Given the description of an element on the screen output the (x, y) to click on. 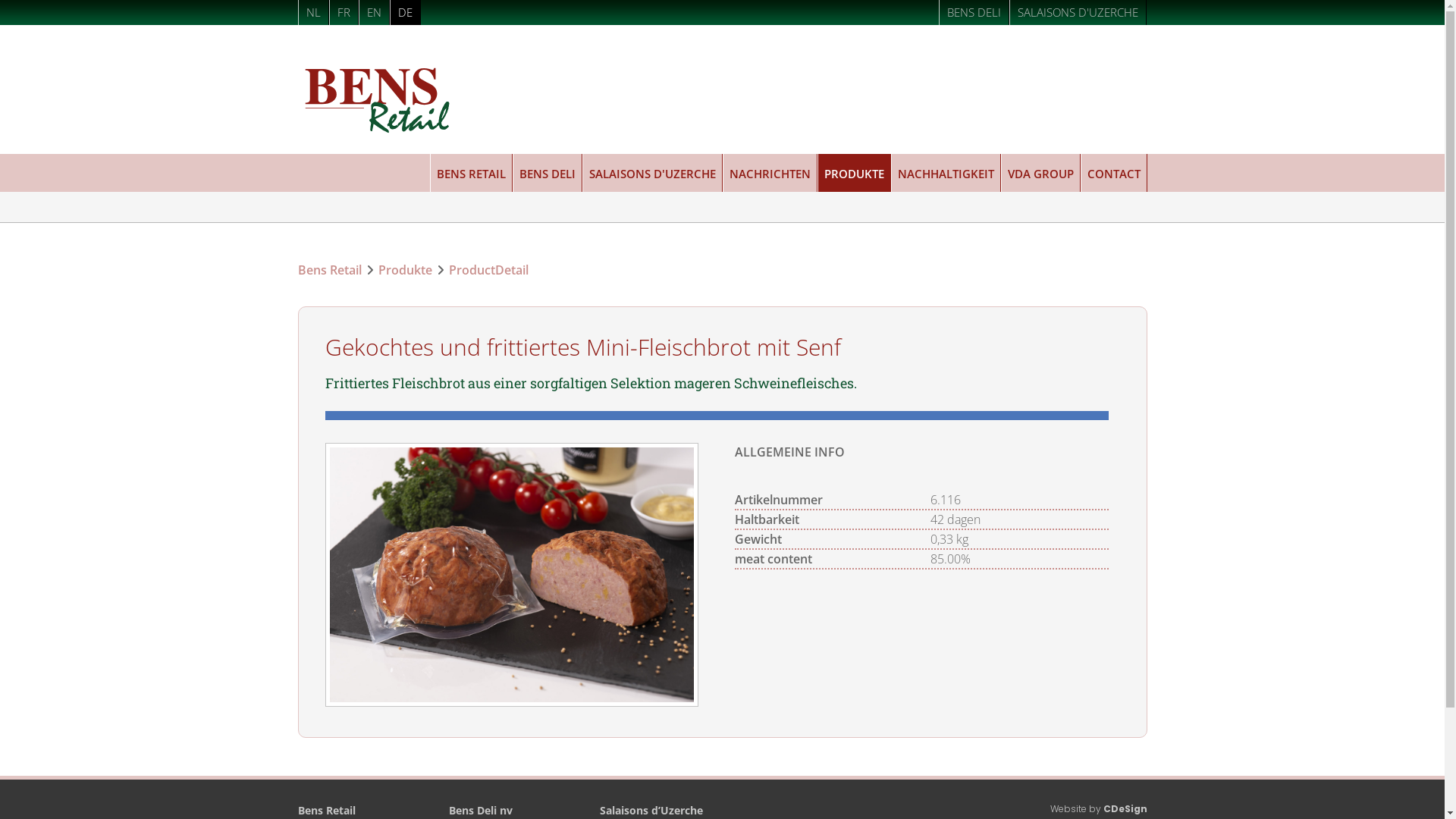
NL Element type: text (312, 12)
NACHHALTIGKEIT Element type: text (945, 172)
CONTACT Element type: text (1112, 172)
SALAISONS D'UZERCHE Element type: text (1077, 12)
EN Element type: text (373, 12)
BENS RETAIL Element type: text (470, 172)
CDeSign Element type: text (1124, 808)
BENS DELI Element type: text (547, 172)
BENS DELI Element type: text (973, 12)
DE Element type: text (404, 12)
FR Element type: text (343, 12)
Produkte Element type: text (404, 269)
NACHRICHTEN Element type: text (768, 172)
PRODUKTE Element type: text (854, 172)
Bens Retail Element type: text (328, 269)
VDA GROUP Element type: text (1040, 172)
Website by Element type: text (1075, 808)
ProductDetail Element type: text (488, 269)
SALAISONS D'UZERCHE Element type: text (652, 172)
